Given the description of an element on the screen output the (x, y) to click on. 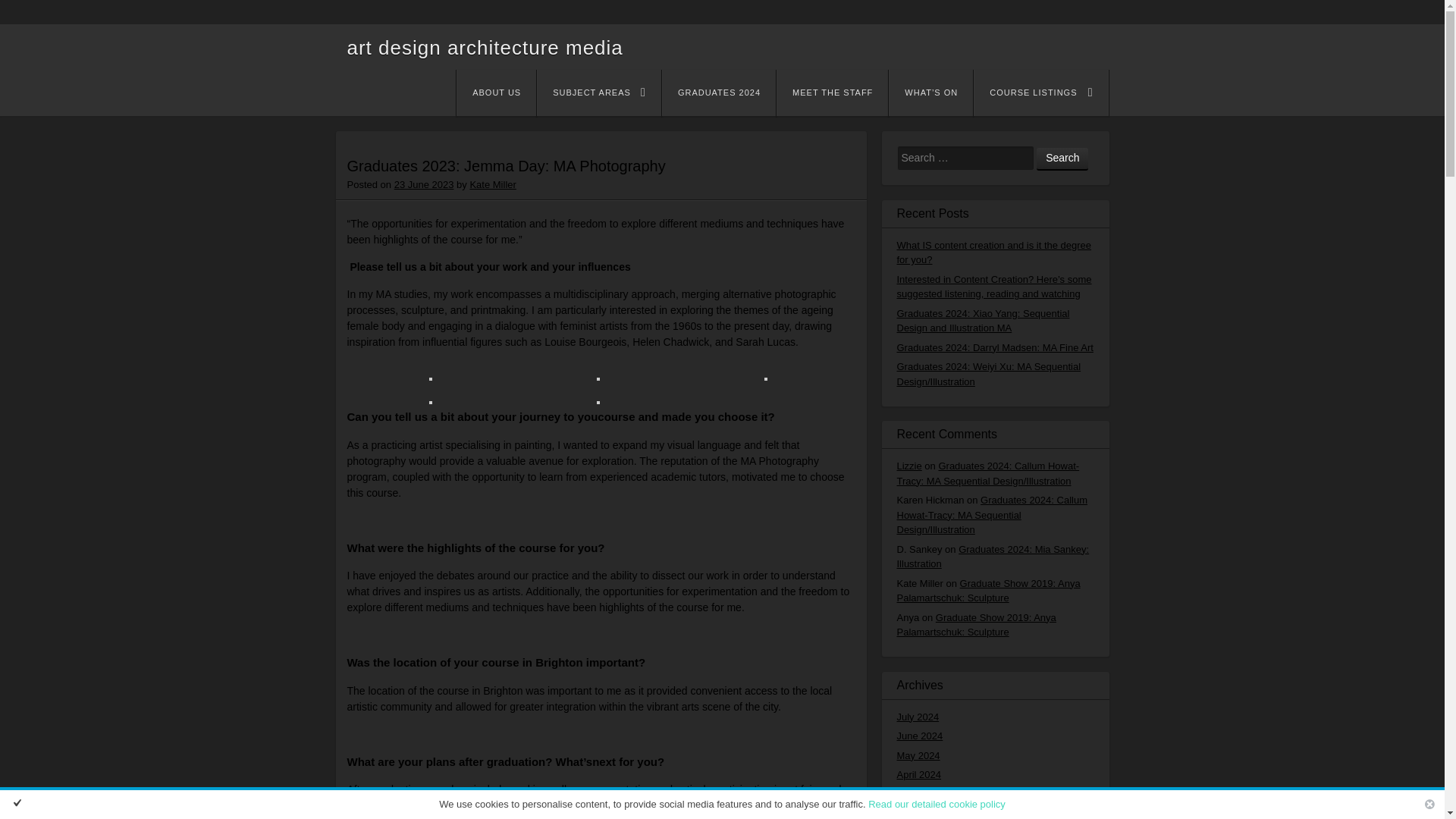
10:50 am (424, 184)
GRADUATES 2024 (719, 92)
Skip to content (506, 93)
Skip to content (506, 93)
Search (1061, 158)
Menu (493, 96)
COURSE LISTINGS (1041, 92)
MEET THE STAFF (832, 92)
art design architecture media (485, 47)
View all posts by Kate Miller (491, 184)
